Given the description of an element on the screen output the (x, y) to click on. 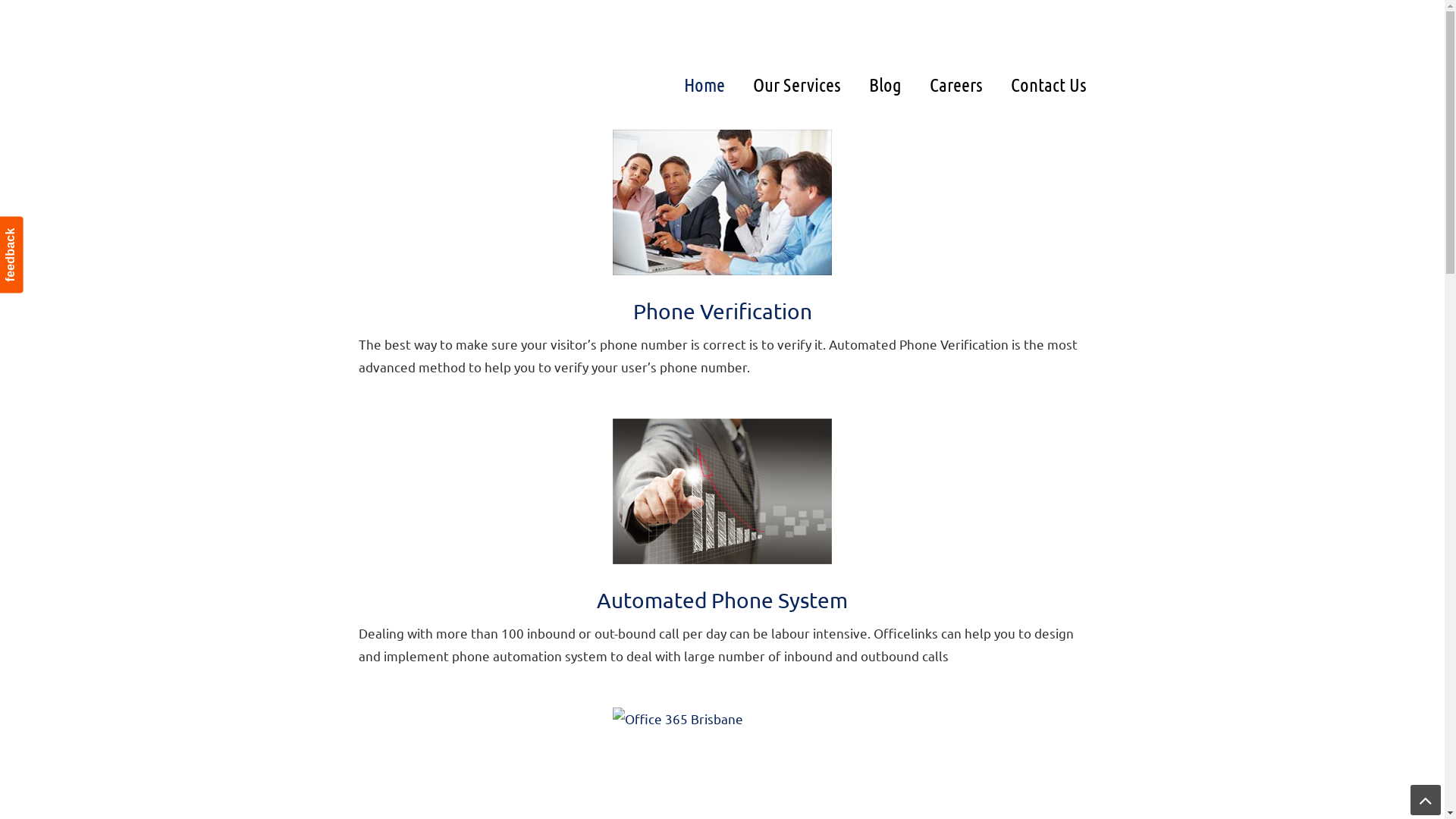
Read More Element type: text (393, 398)
Professional IT Company Element type: text (475, 42)
Blog Element type: text (884, 84)
Home Element type: text (704, 84)
Contact Us Element type: text (1047, 84)
Our Services Element type: text (796, 84)
Careers Element type: text (955, 84)
Read More Element type: text (393, 687)
